Given the description of an element on the screen output the (x, y) to click on. 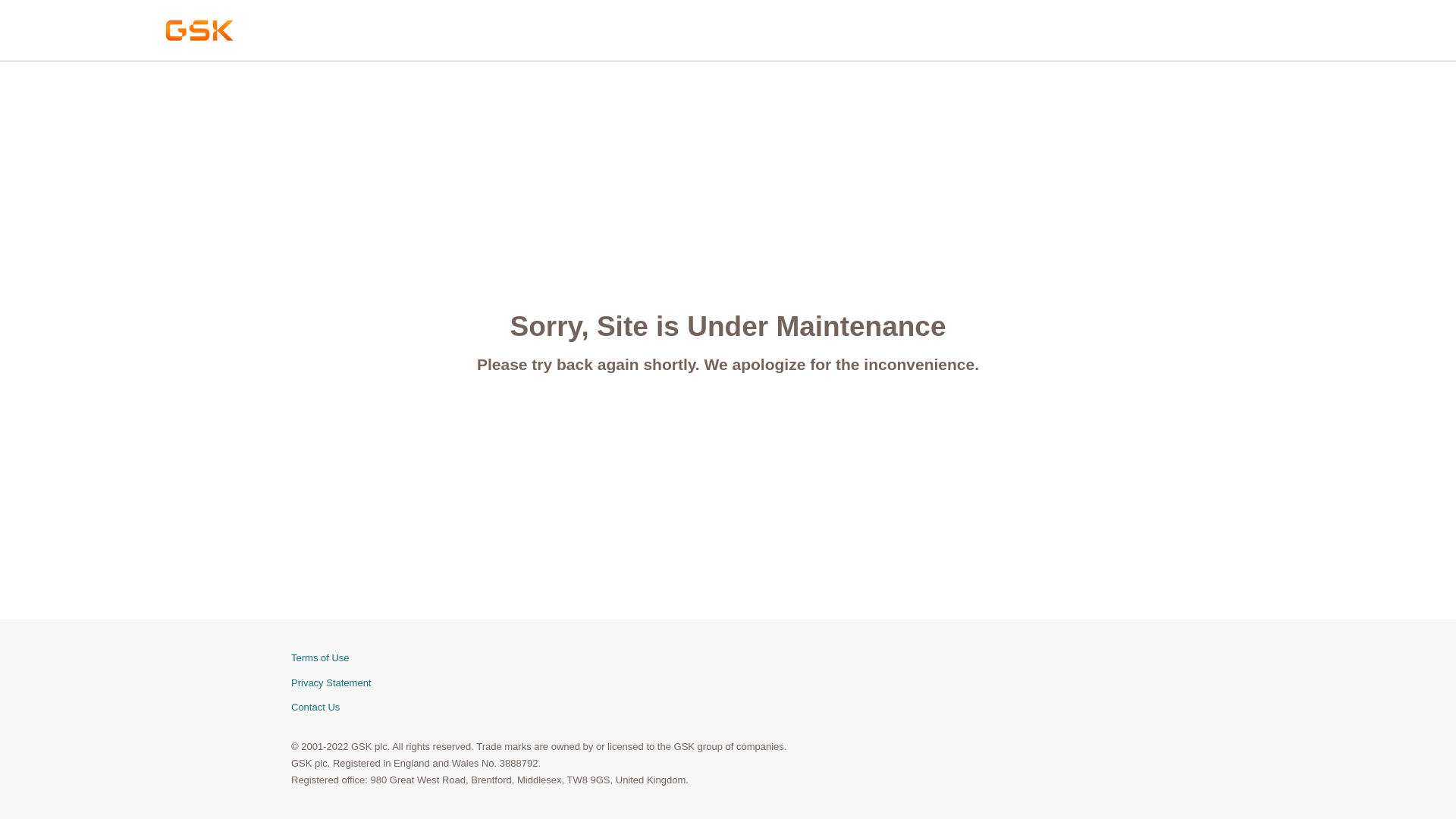
Privacy Statement Element type: text (727, 682)
Terms of Use Element type: text (727, 657)
Contact Us Element type: text (727, 707)
